Given the description of an element on the screen output the (x, y) to click on. 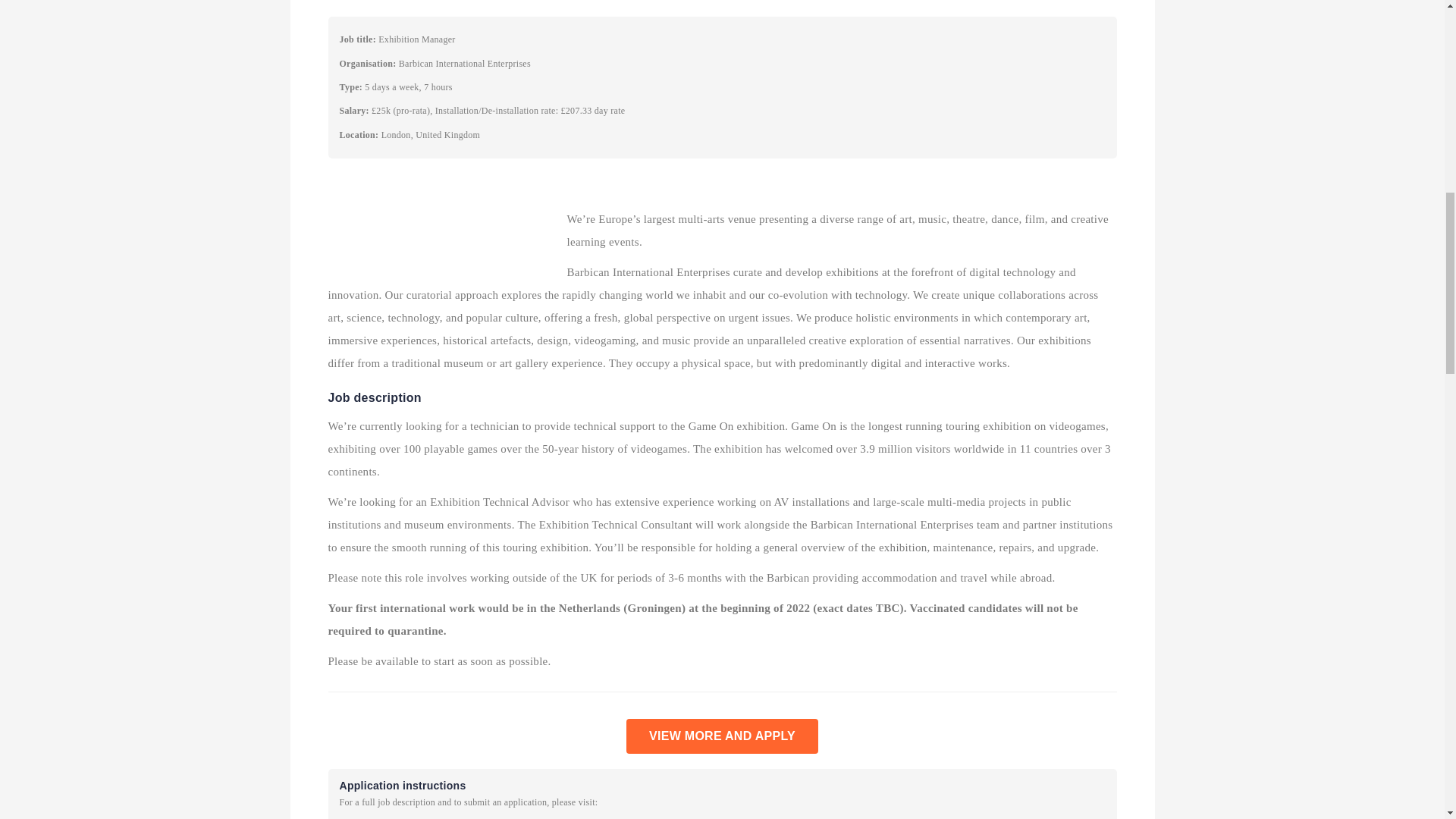
VIEW MORE AND APPLY (722, 736)
